Given the description of an element on the screen output the (x, y) to click on. 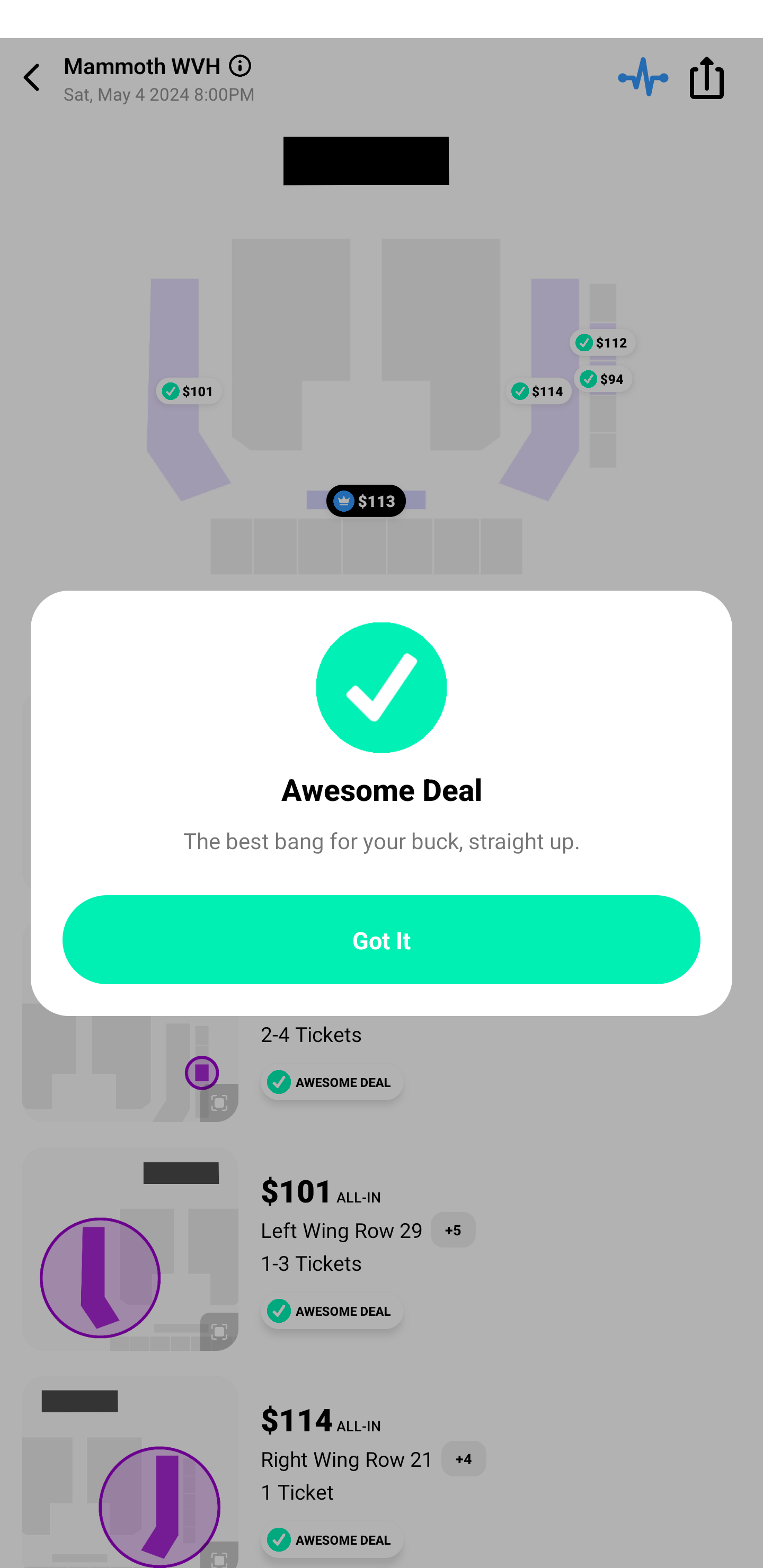
Got It (381, 939)
